Given the description of an element on the screen output the (x, y) to click on. 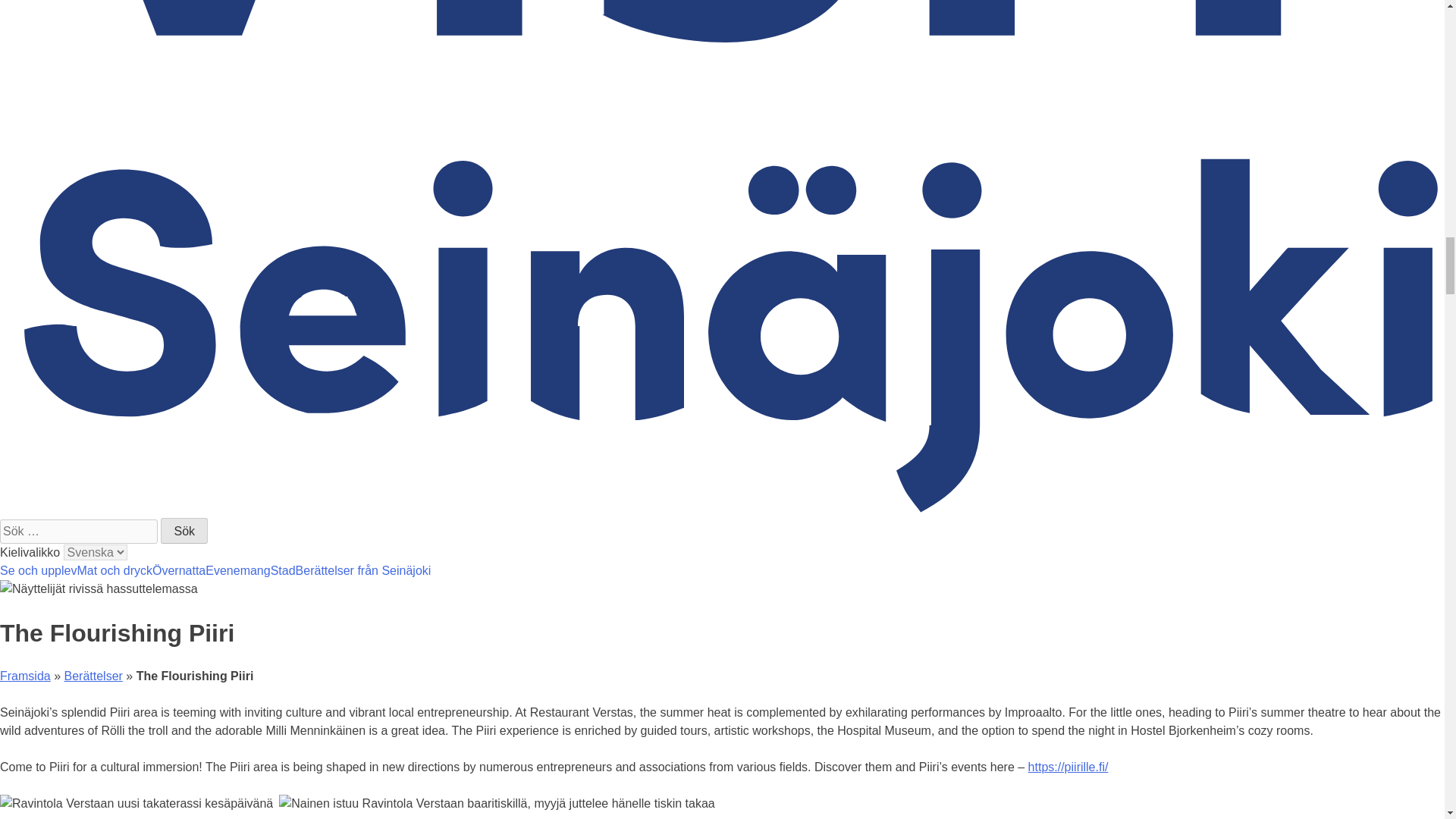
Framsida (25, 675)
Mat och dryck (114, 570)
Stad (282, 570)
Evenemang (237, 570)
Se och upplev (38, 570)
